Given the description of an element on the screen output the (x, y) to click on. 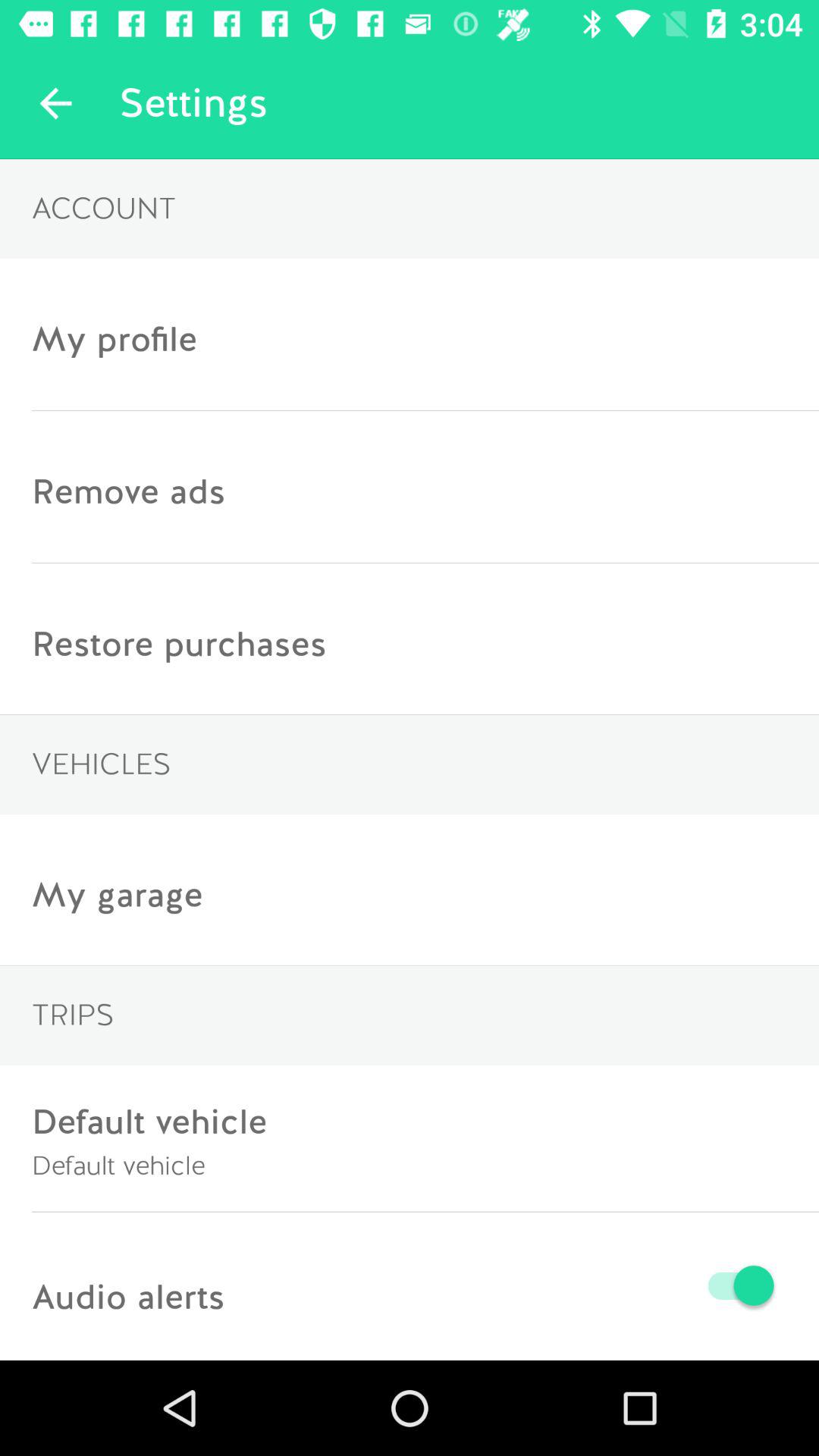
click app next to the settings icon (55, 103)
